Given the description of an element on the screen output the (x, y) to click on. 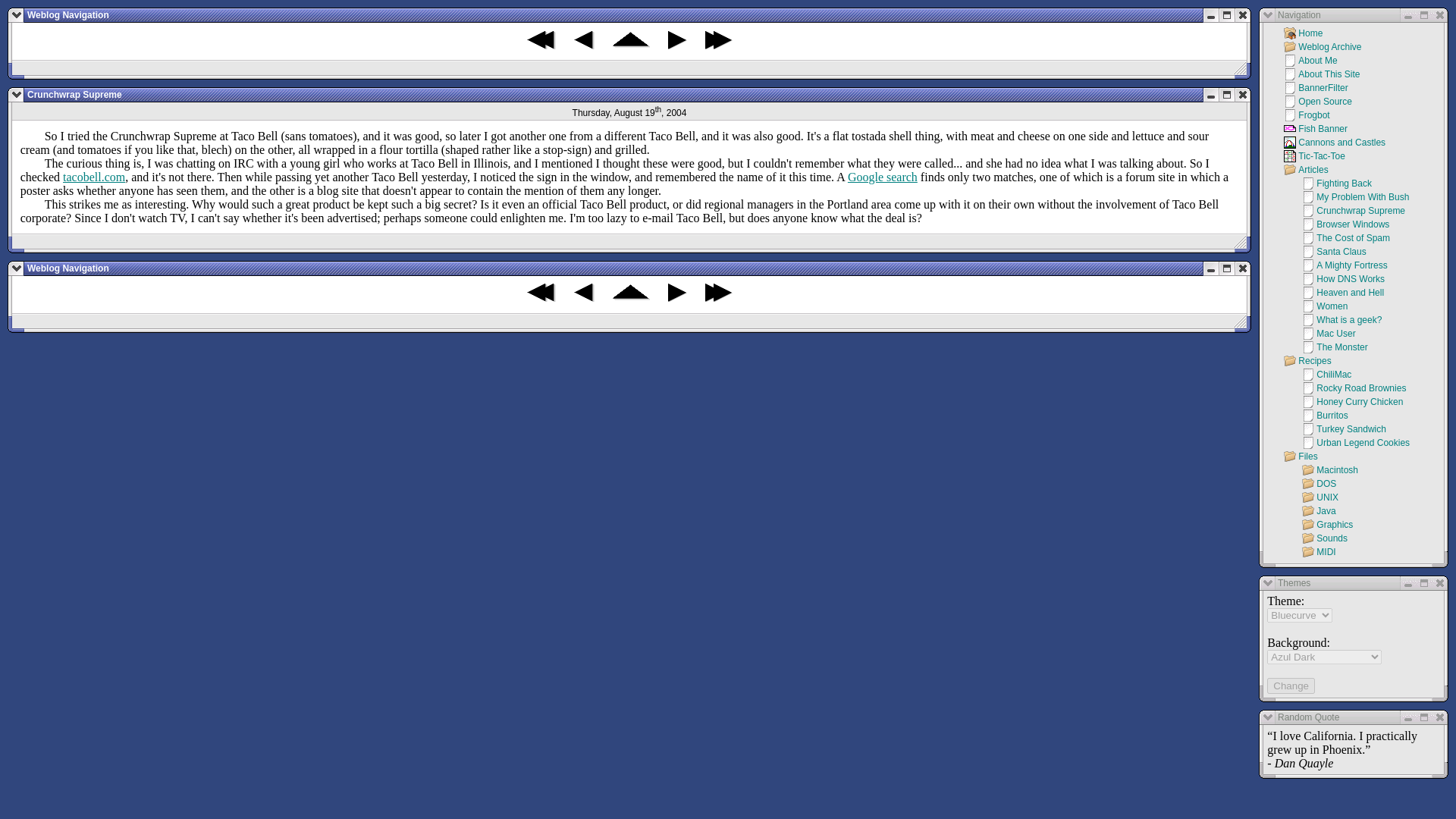
Google search (882, 176)
tacobell.com (93, 176)
Blog entries, archived from my home page (631, 297)
Blog entries, archived from my home page (631, 44)
